Given the description of an element on the screen output the (x, y) to click on. 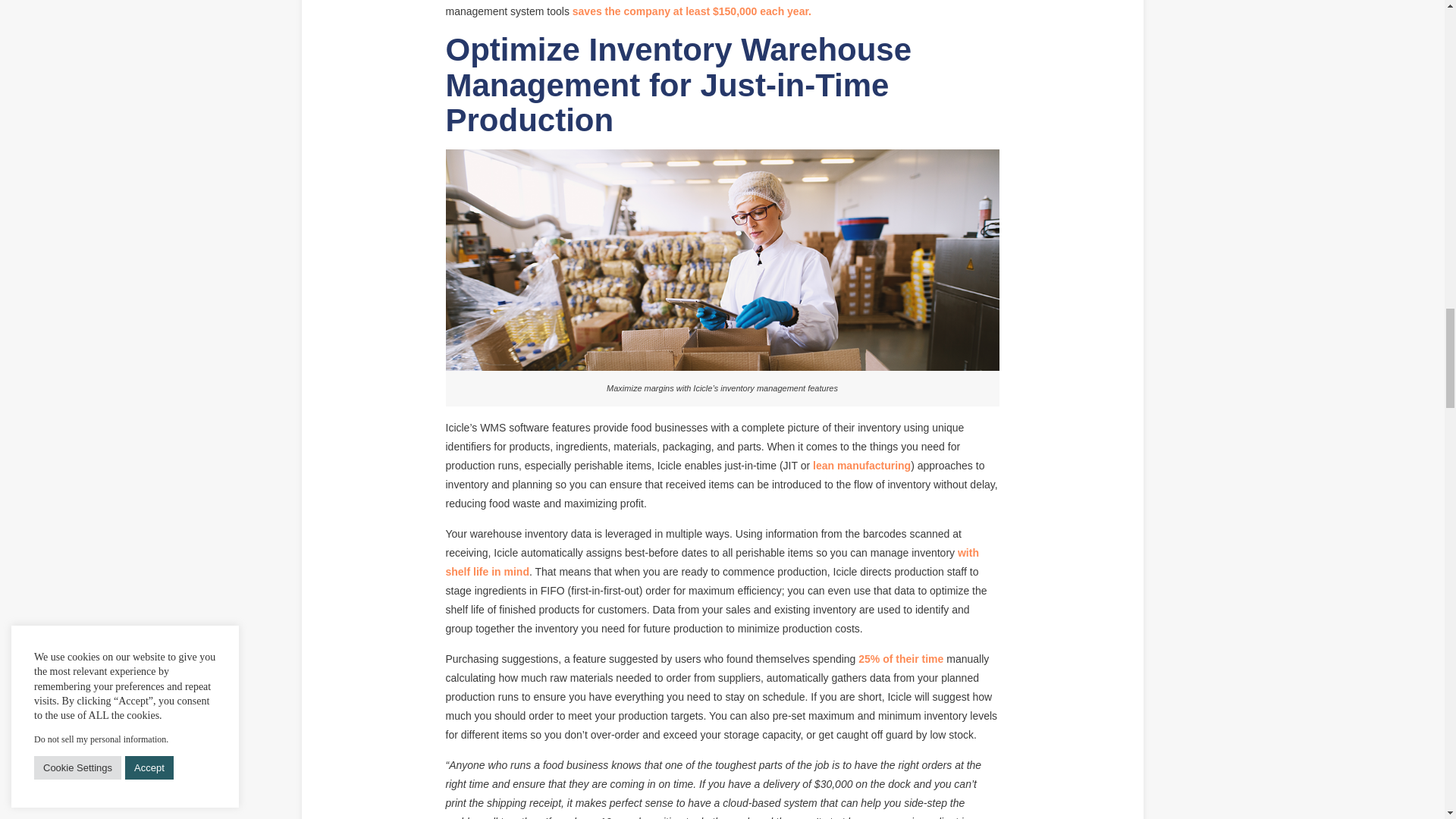
lean manufacturing (861, 465)
with shelf life in mind (711, 562)
